Given the description of an element on the screen output the (x, y) to click on. 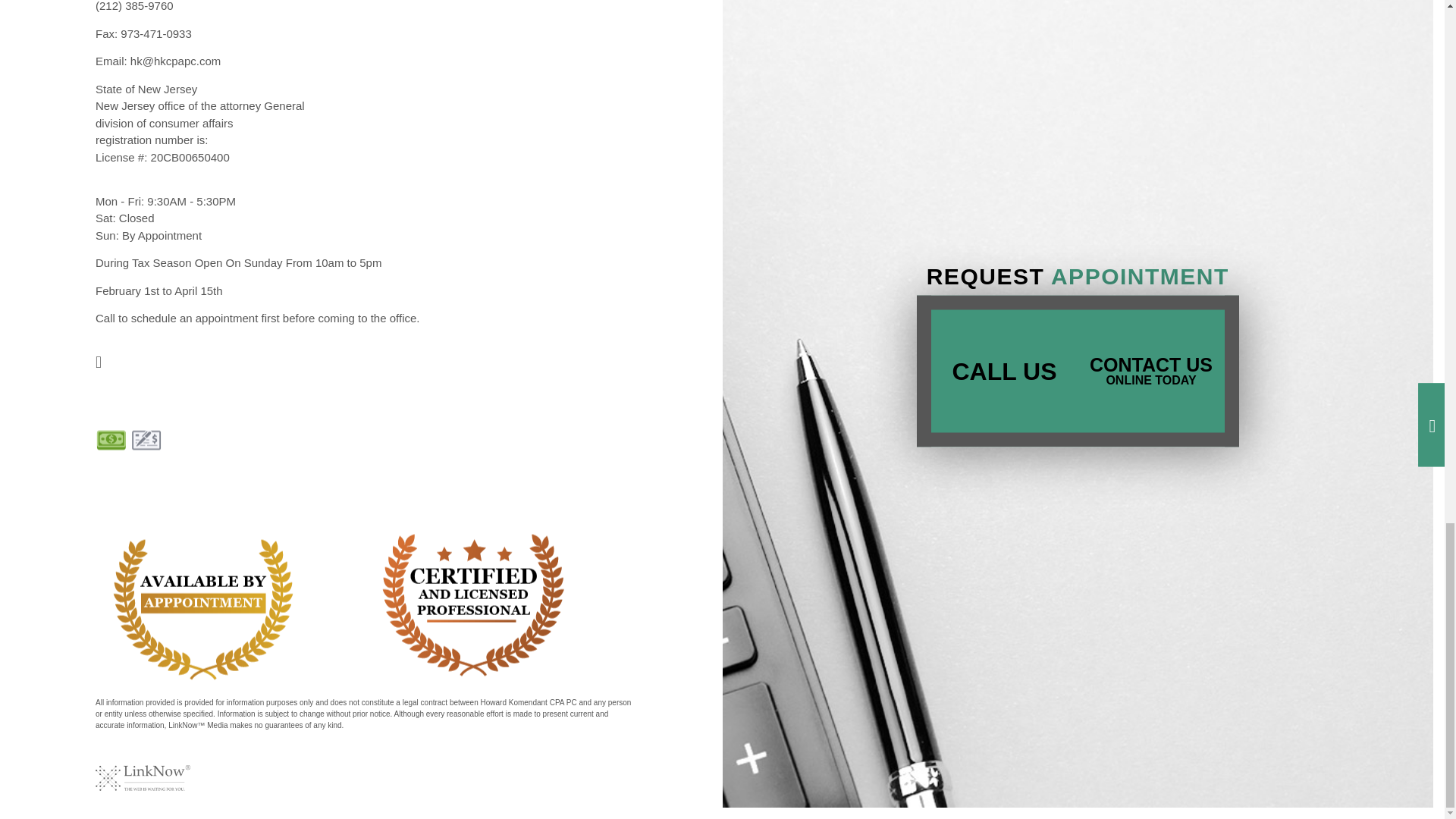
Contact Howard Komendant CPA PC today (1150, 369)
Check (146, 439)
Cash (112, 439)
